Given the description of an element on the screen output the (x, y) to click on. 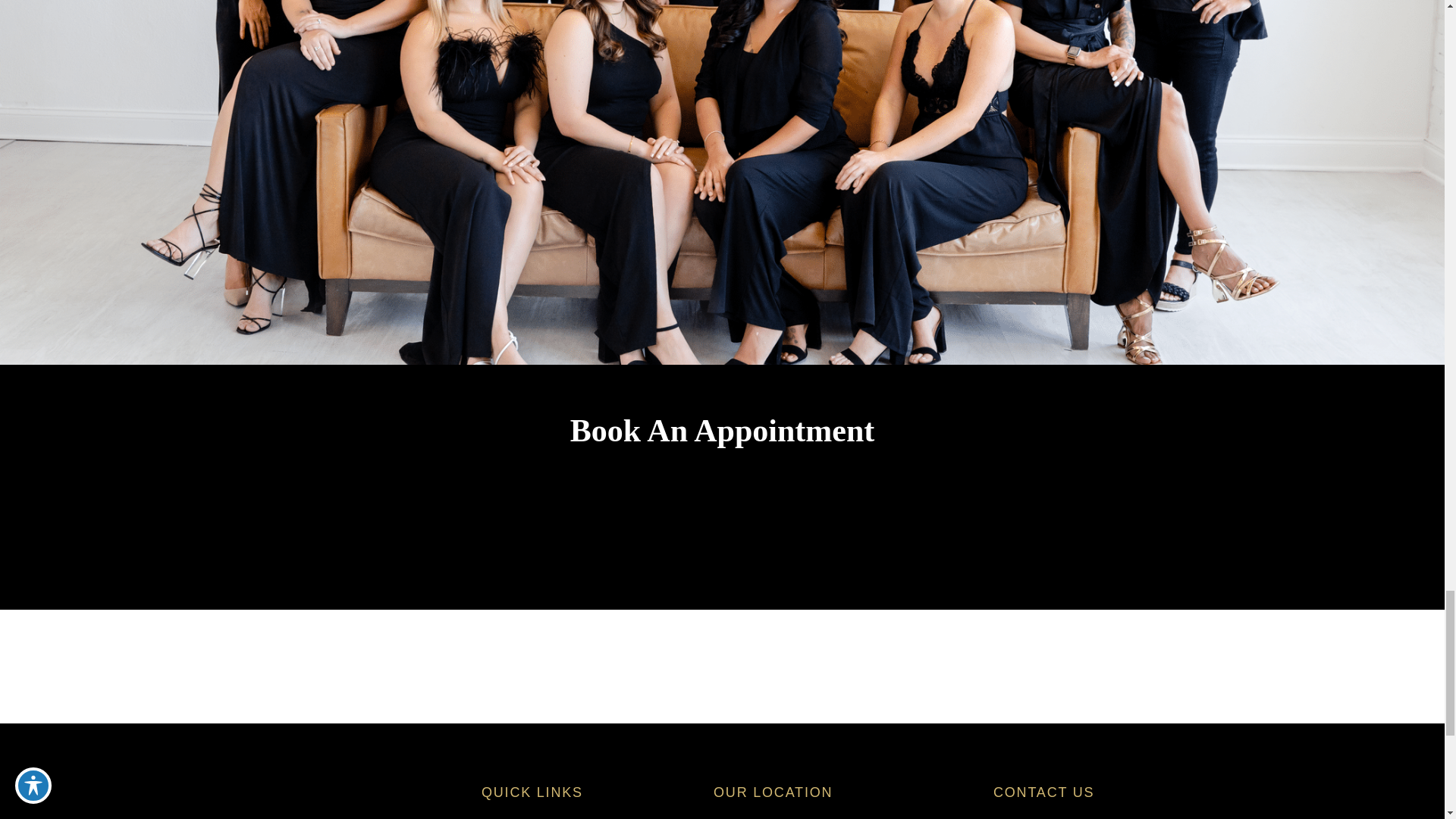
Website Contact Form (721, 523)
